Given the description of an element on the screen output the (x, y) to click on. 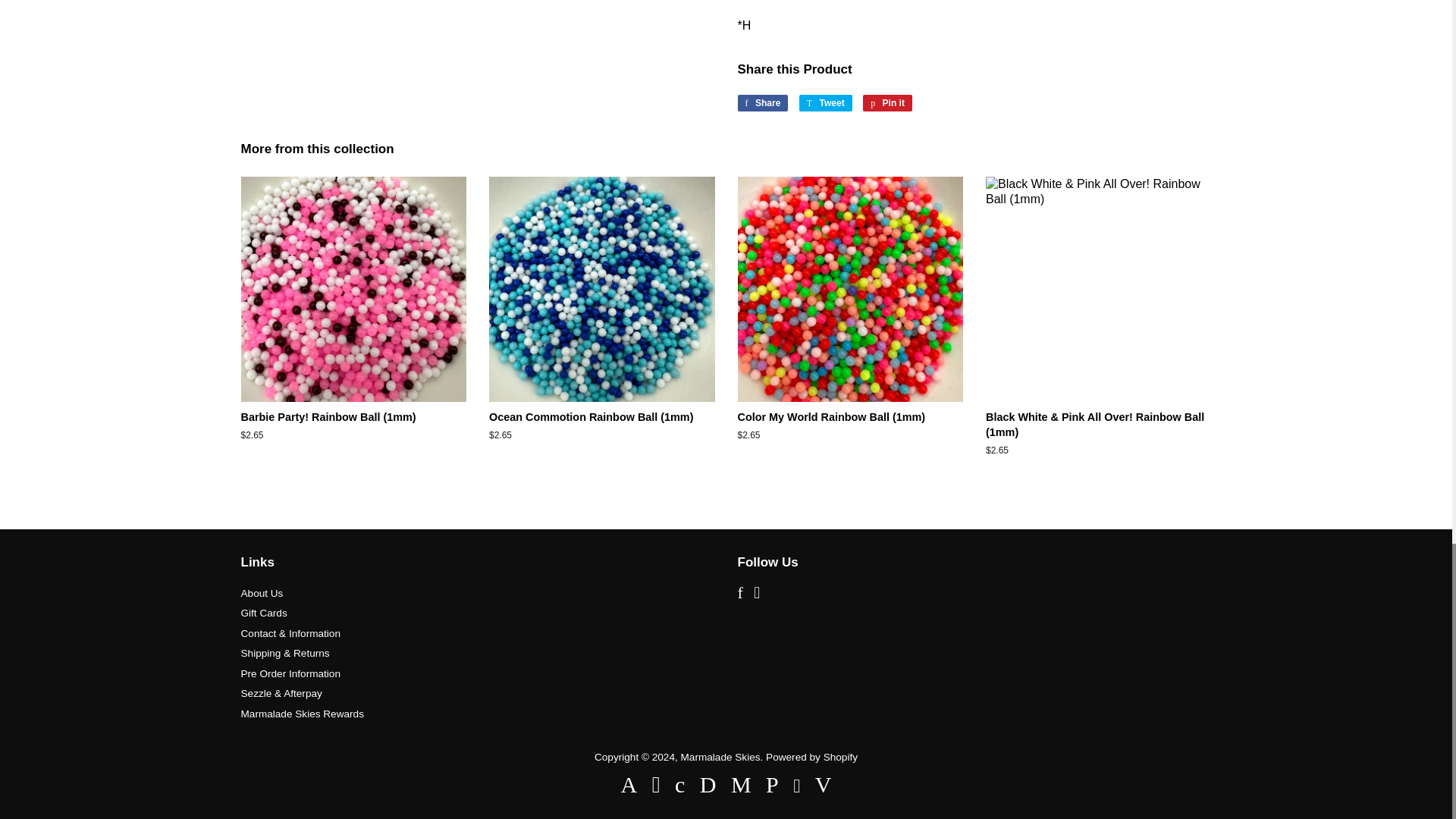
Tweet on Twitter (825, 103)
Pin on Pinterest (887, 103)
Share on Facebook (761, 103)
